Given the description of an element on the screen output the (x, y) to click on. 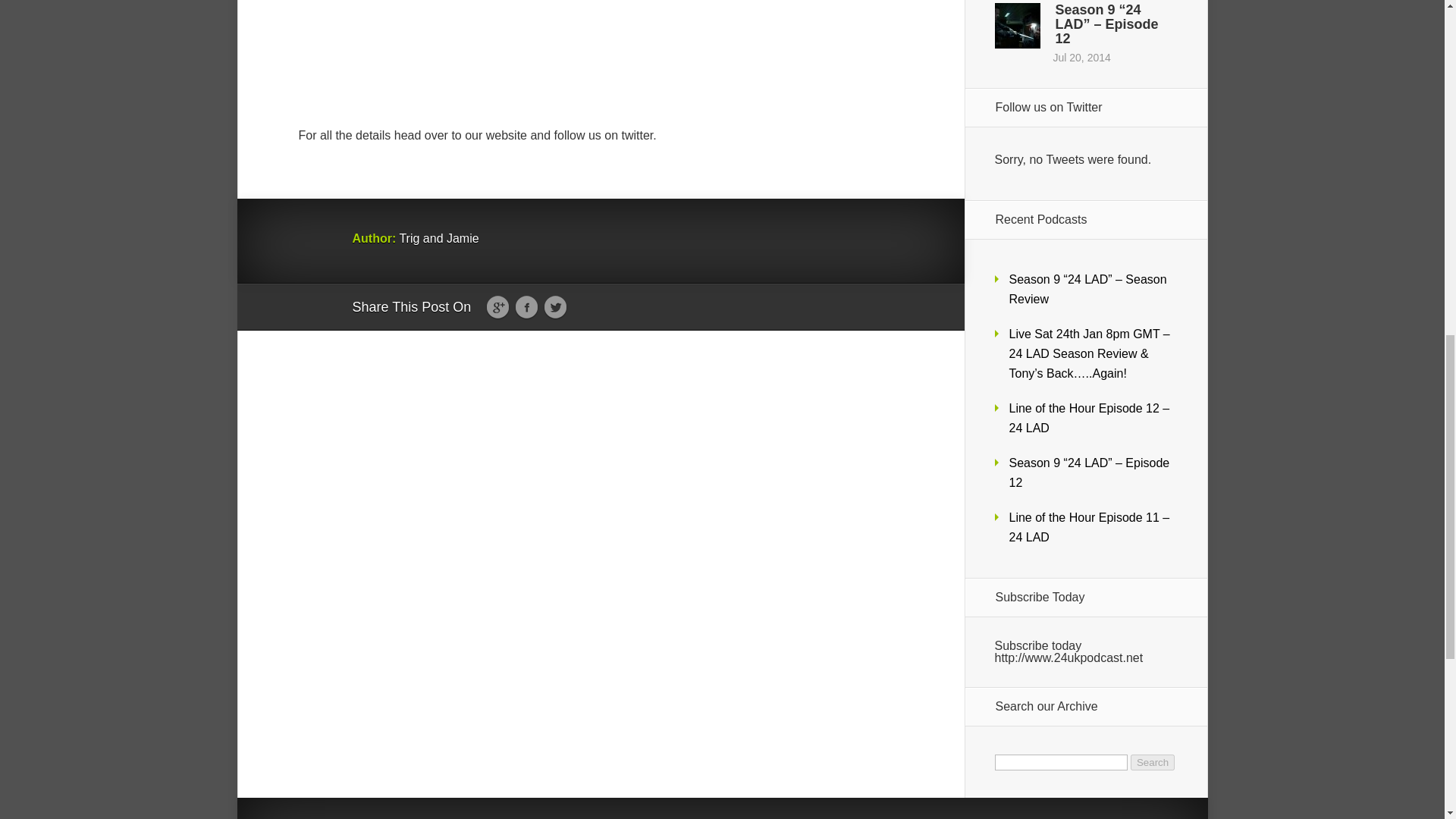
Search (1152, 762)
